Given the description of an element on the screen output the (x, y) to click on. 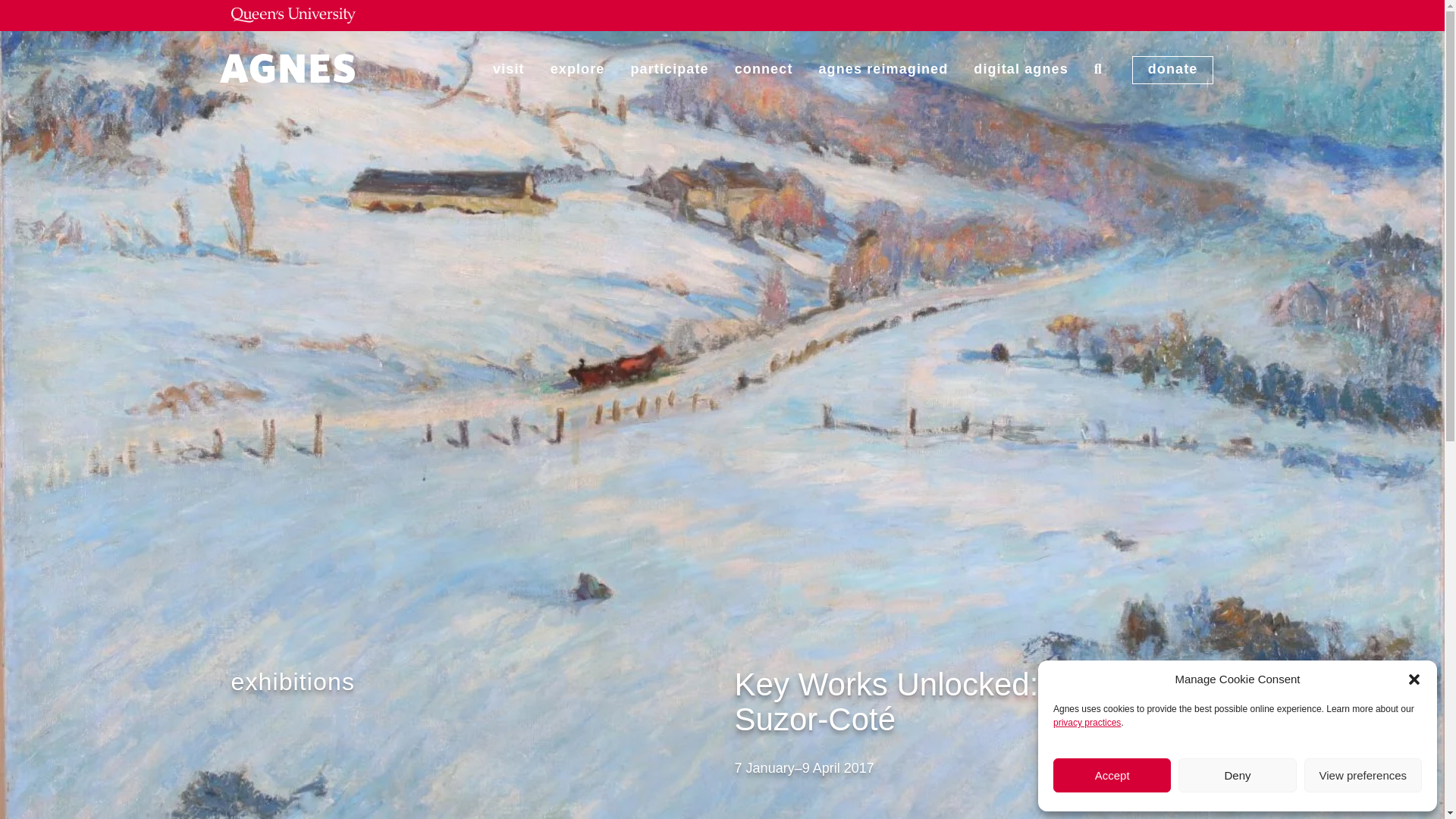
Accept (1111, 775)
Deny (1236, 775)
View preferences (1363, 775)
privacy practices (1086, 722)
